Given the description of an element on the screen output the (x, y) to click on. 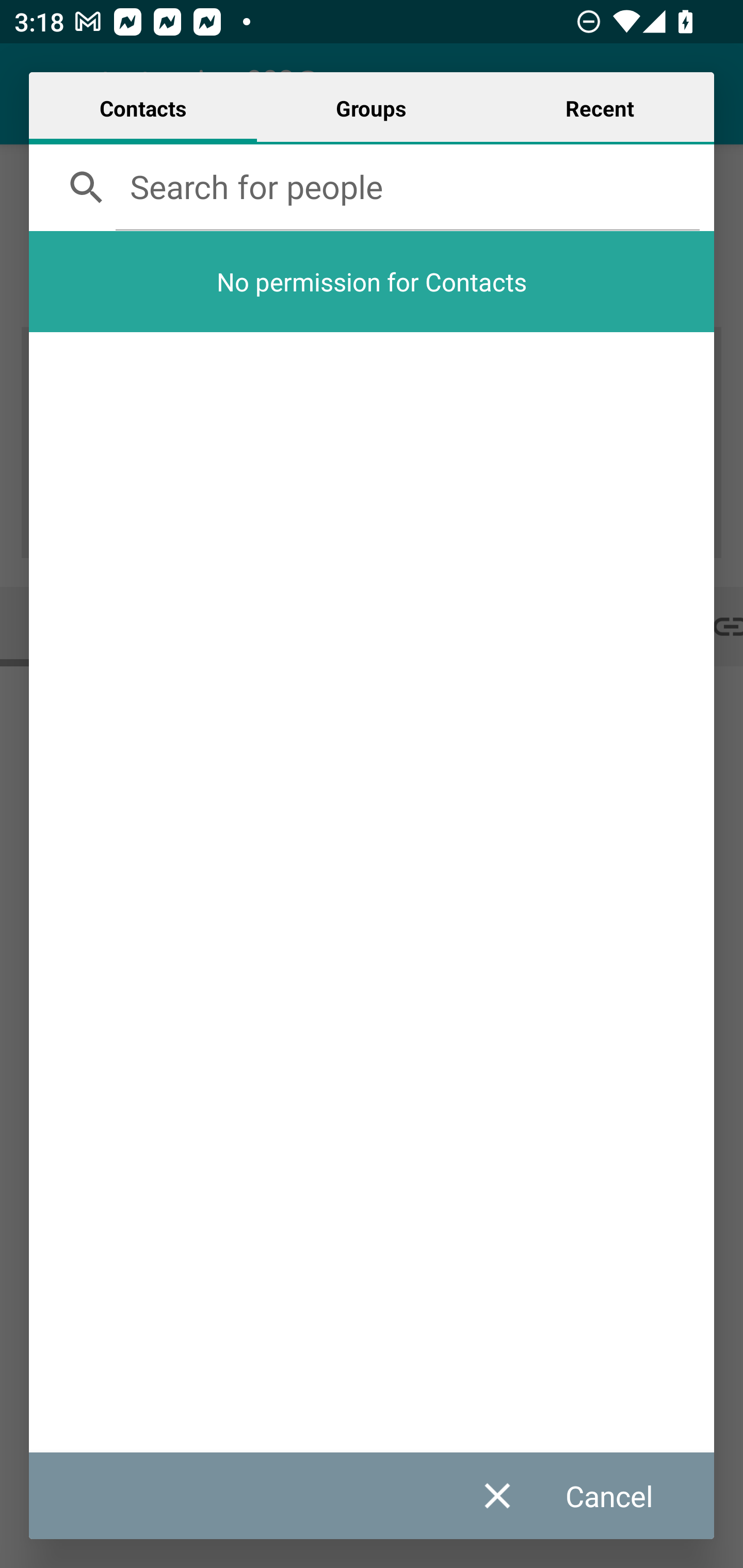
Contacts (142, 108)
Groups (371, 108)
Recent (599, 108)
Search for people (407, 186)
No permission for Contacts (371, 281)
Cancel Cancel Cancel (587, 1495)
